Given the description of an element on the screen output the (x, y) to click on. 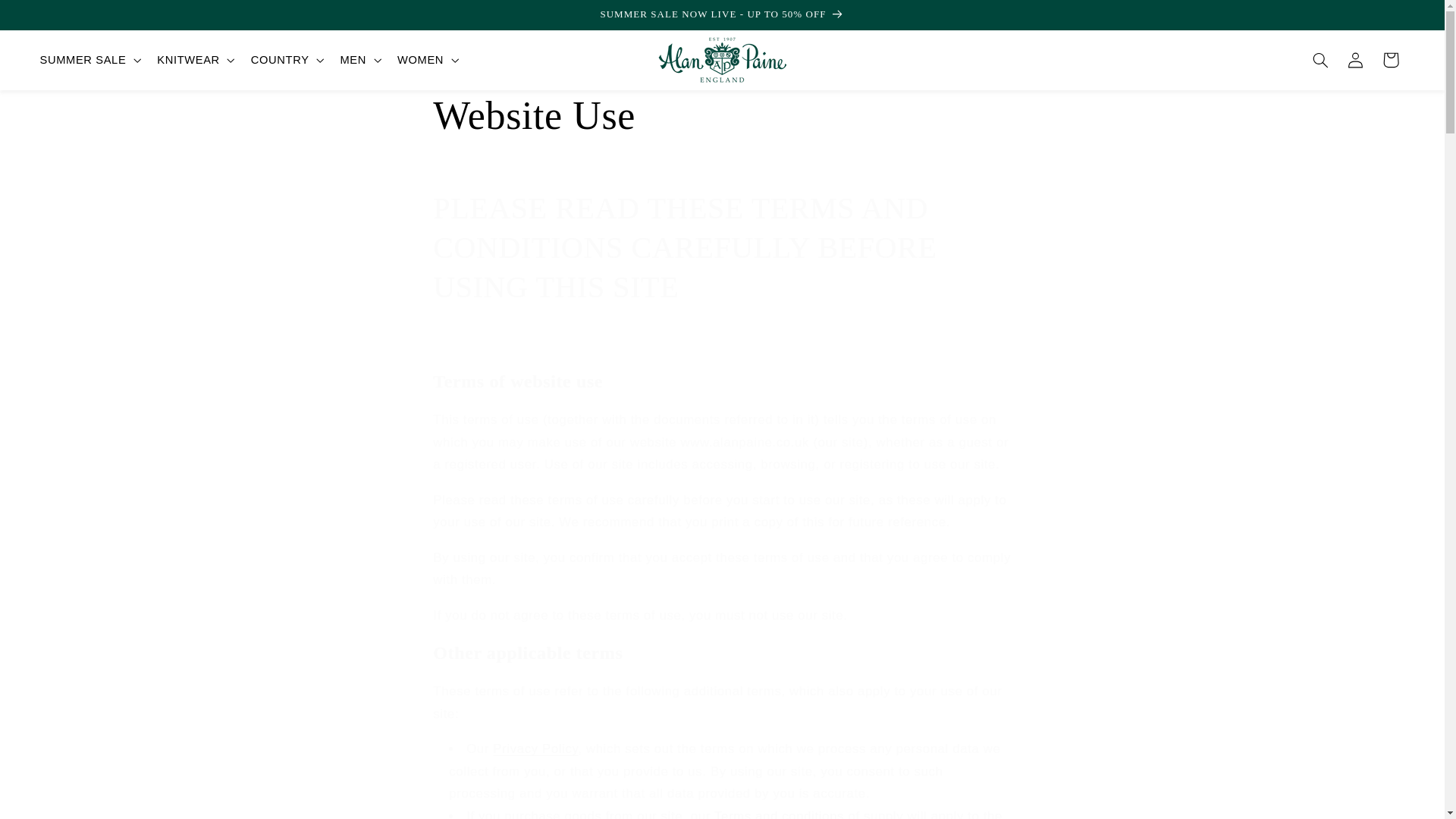
Privacy Policy (535, 748)
Skip to content (47, 17)
Website Use (721, 115)
